Given the description of an element on the screen output the (x, y) to click on. 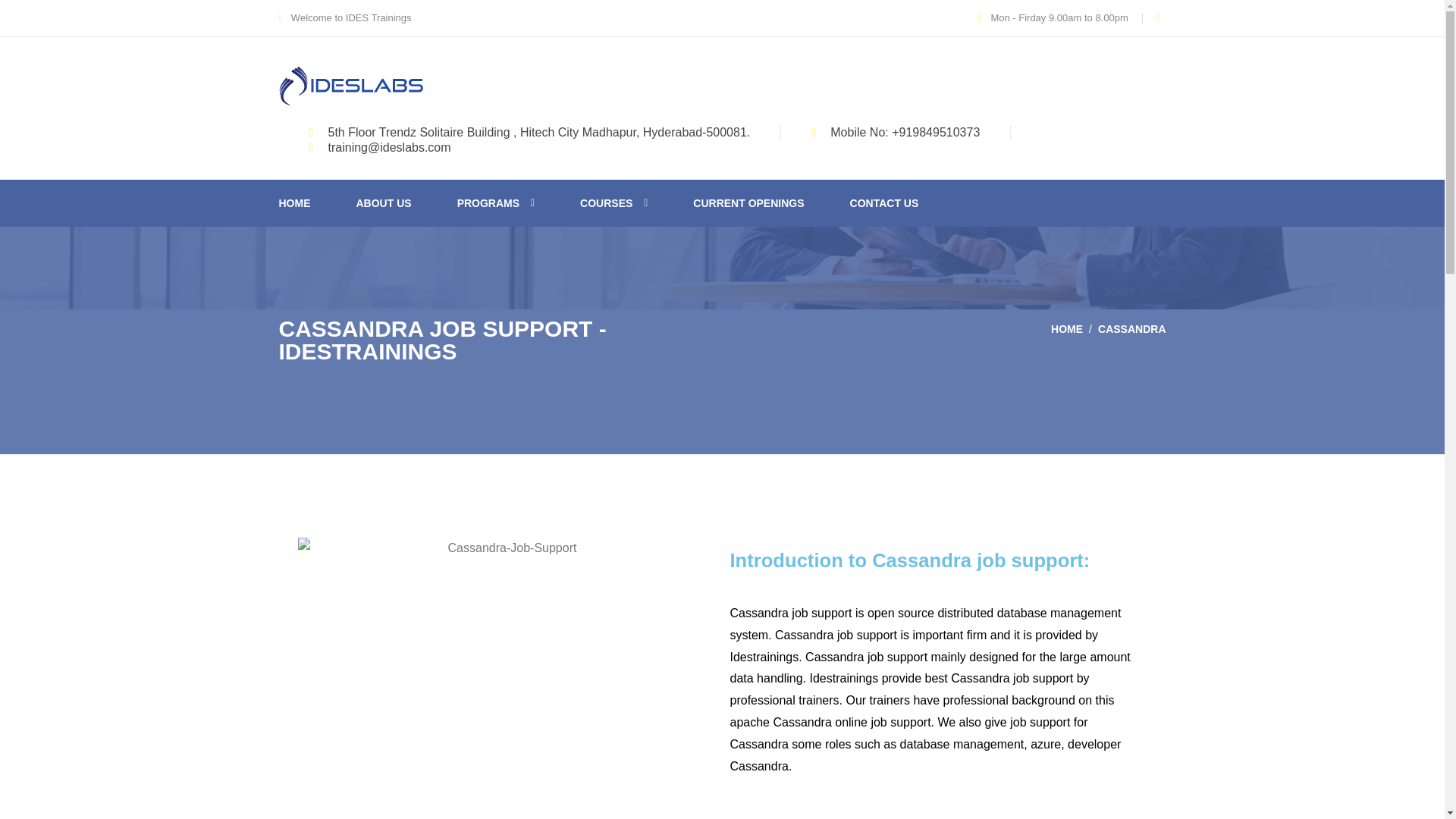
IDESTRAININGS (351, 84)
PROGRAMS (495, 202)
PROGRAMS (495, 202)
COURSES (613, 202)
CONTACT US (884, 202)
CURRENT OPENINGS (748, 202)
ABOUT US (384, 202)
CURRENT OPENINGS (748, 202)
HOME (1067, 328)
COURSES (613, 202)
